Given the description of an element on the screen output the (x, y) to click on. 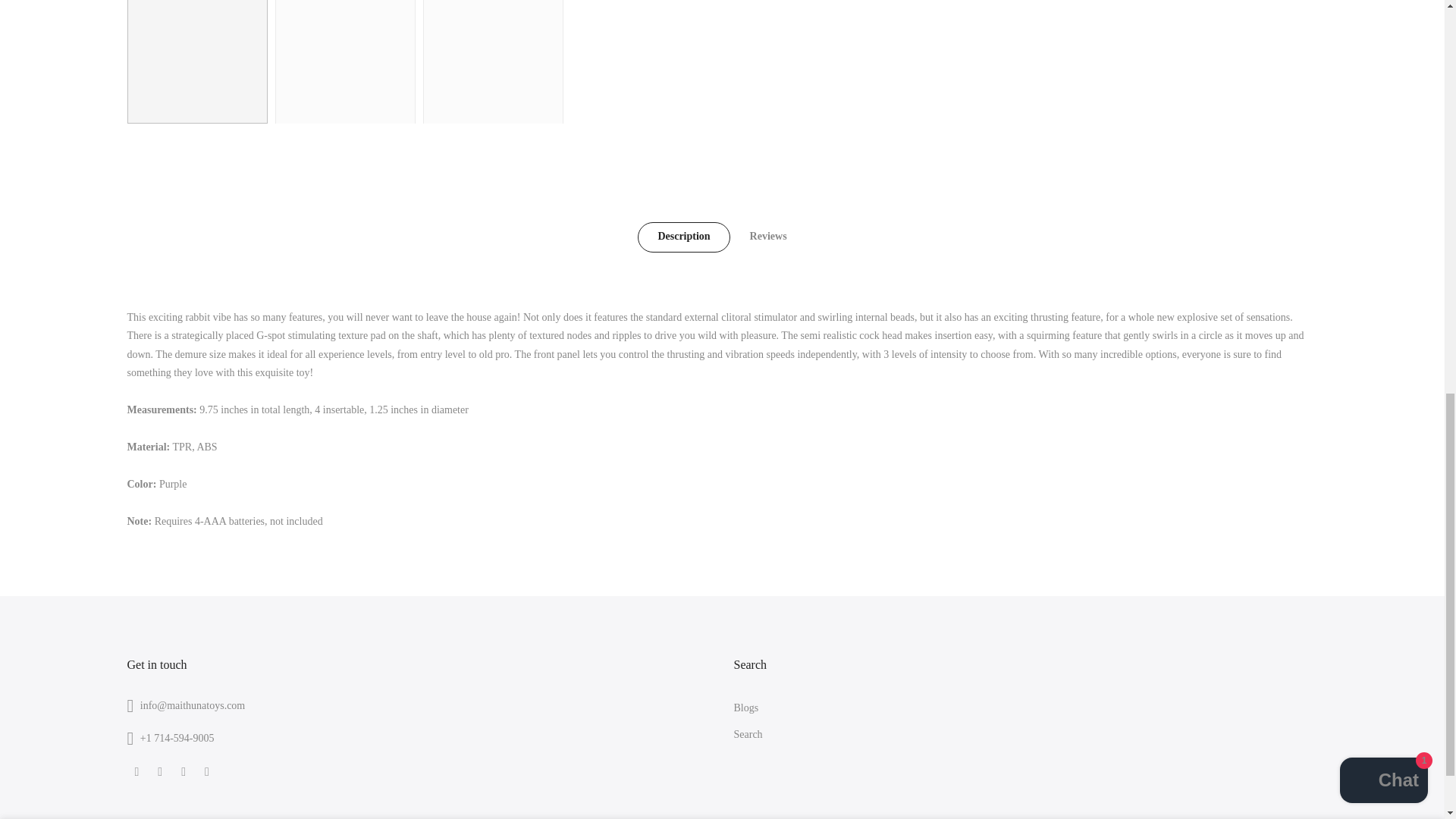
1 (1153, 35)
